Given the description of an element on the screen output the (x, y) to click on. 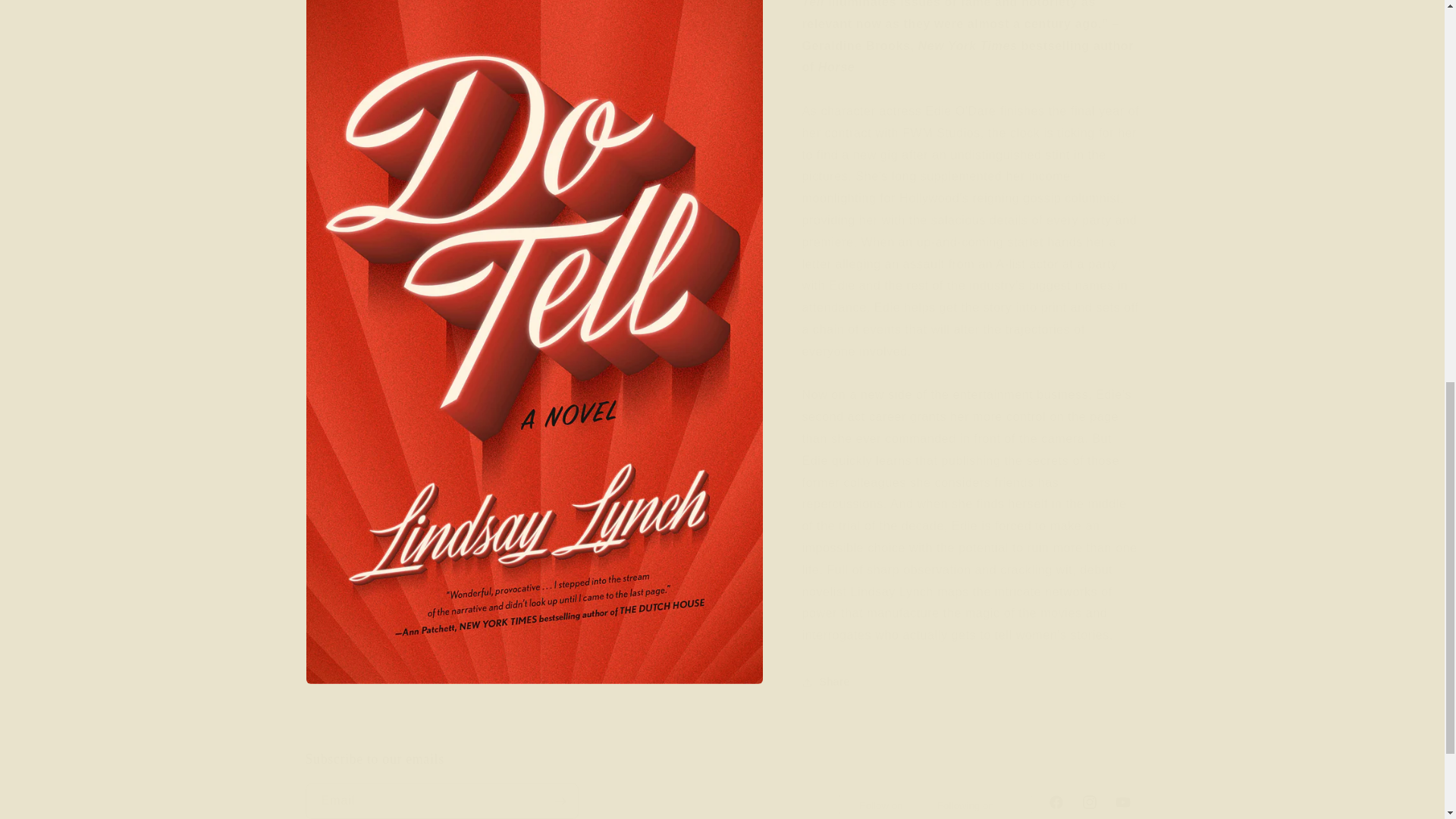
Open media 1 in modal (533, 6)
